Given the description of an element on the screen output the (x, y) to click on. 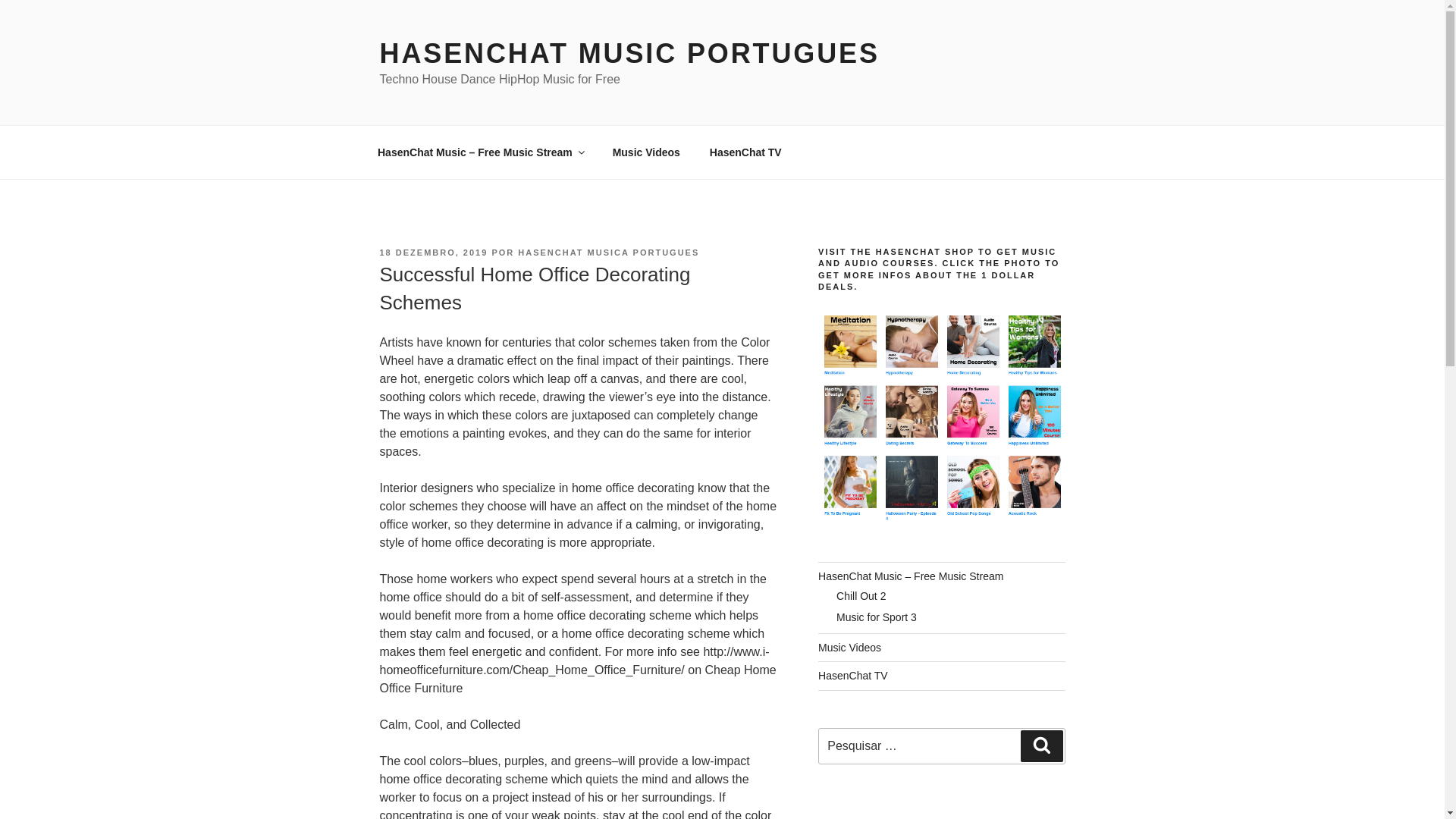
Music Videos (849, 647)
Music for Sport 3 (876, 616)
Music Videos (645, 151)
Chill Out 2 (860, 595)
Pesquisar (1041, 746)
18 DEZEMBRO, 2019 (432, 252)
HasenChat TV (853, 675)
HasenChat TV (744, 151)
HASENCHAT MUSIC PORTUGUES (628, 52)
HASENCHAT MUSICA PORTUGUES (608, 252)
